Given the description of an element on the screen output the (x, y) to click on. 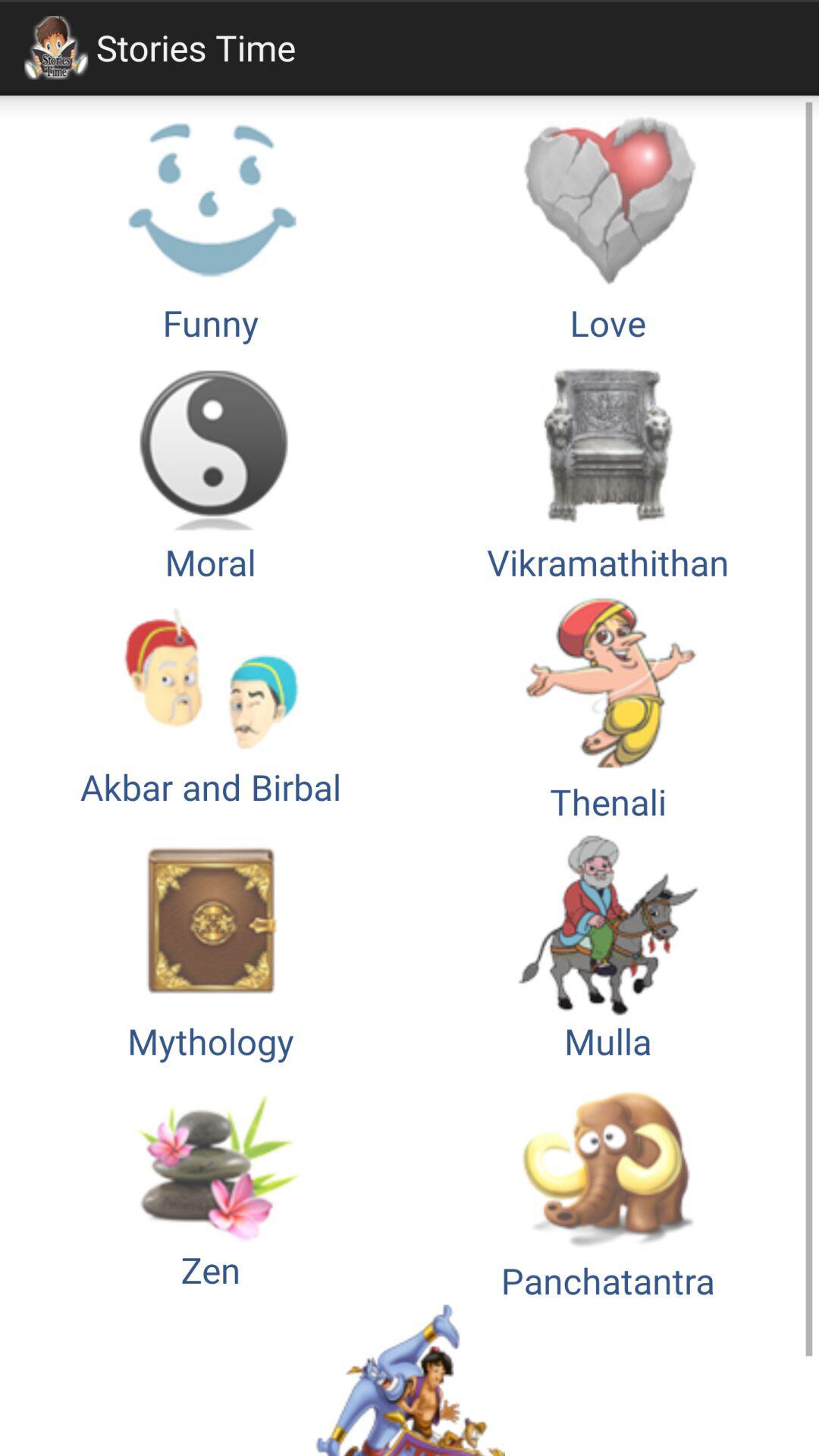
click the button next to the thenali (210, 706)
